Given the description of an element on the screen output the (x, y) to click on. 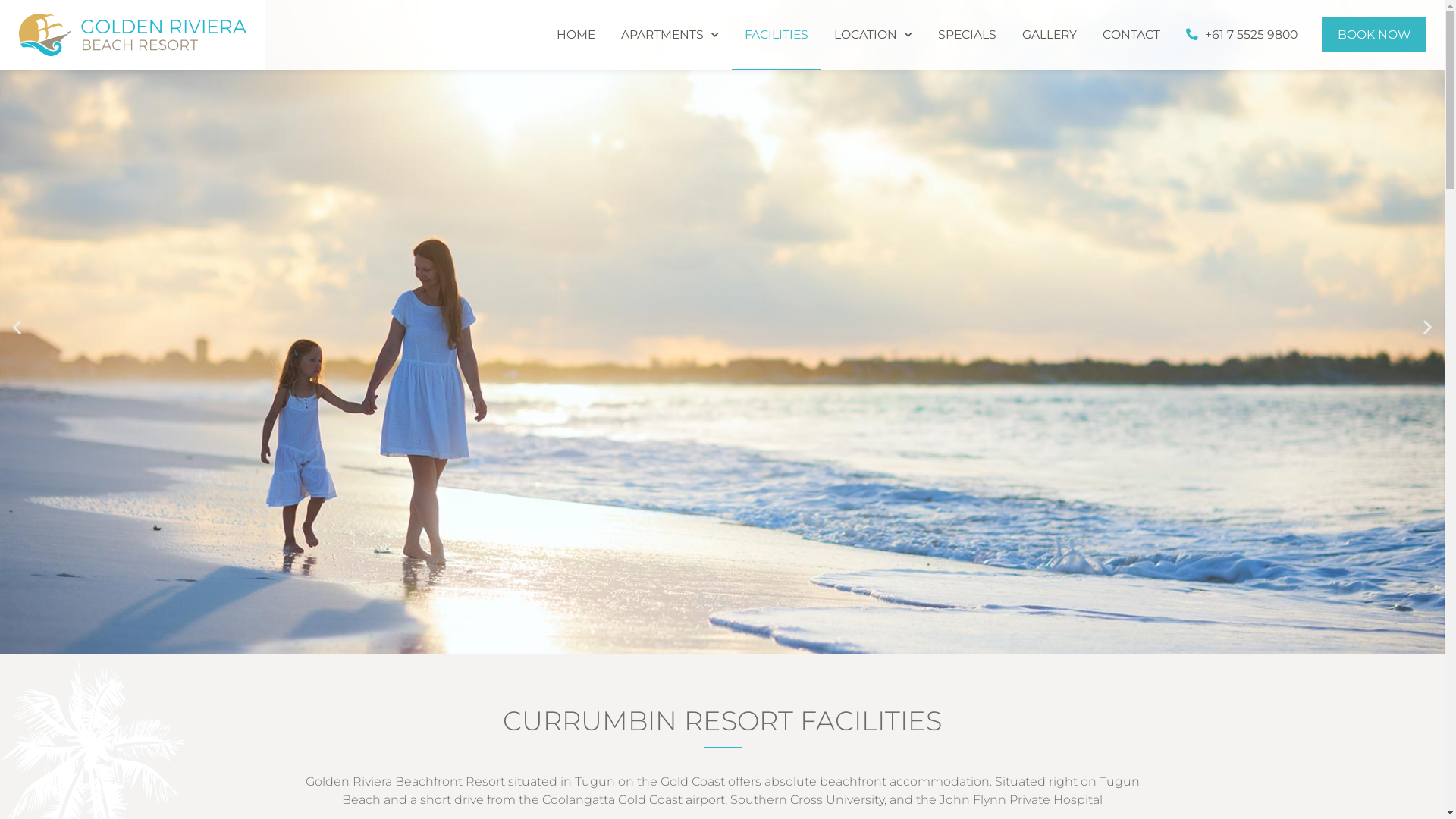
BOOK NOW Element type: text (1373, 35)
LOCATION Element type: text (873, 34)
FACILITIES Element type: text (776, 34)
HOME Element type: text (575, 34)
GALLERY Element type: text (1049, 34)
APARTMENTS Element type: text (669, 34)
SPECIALS Element type: text (967, 34)
+61 7 5525 9800 Element type: text (1241, 34)
CONTACT Element type: text (1131, 34)
